Given the description of an element on the screen output the (x, y) to click on. 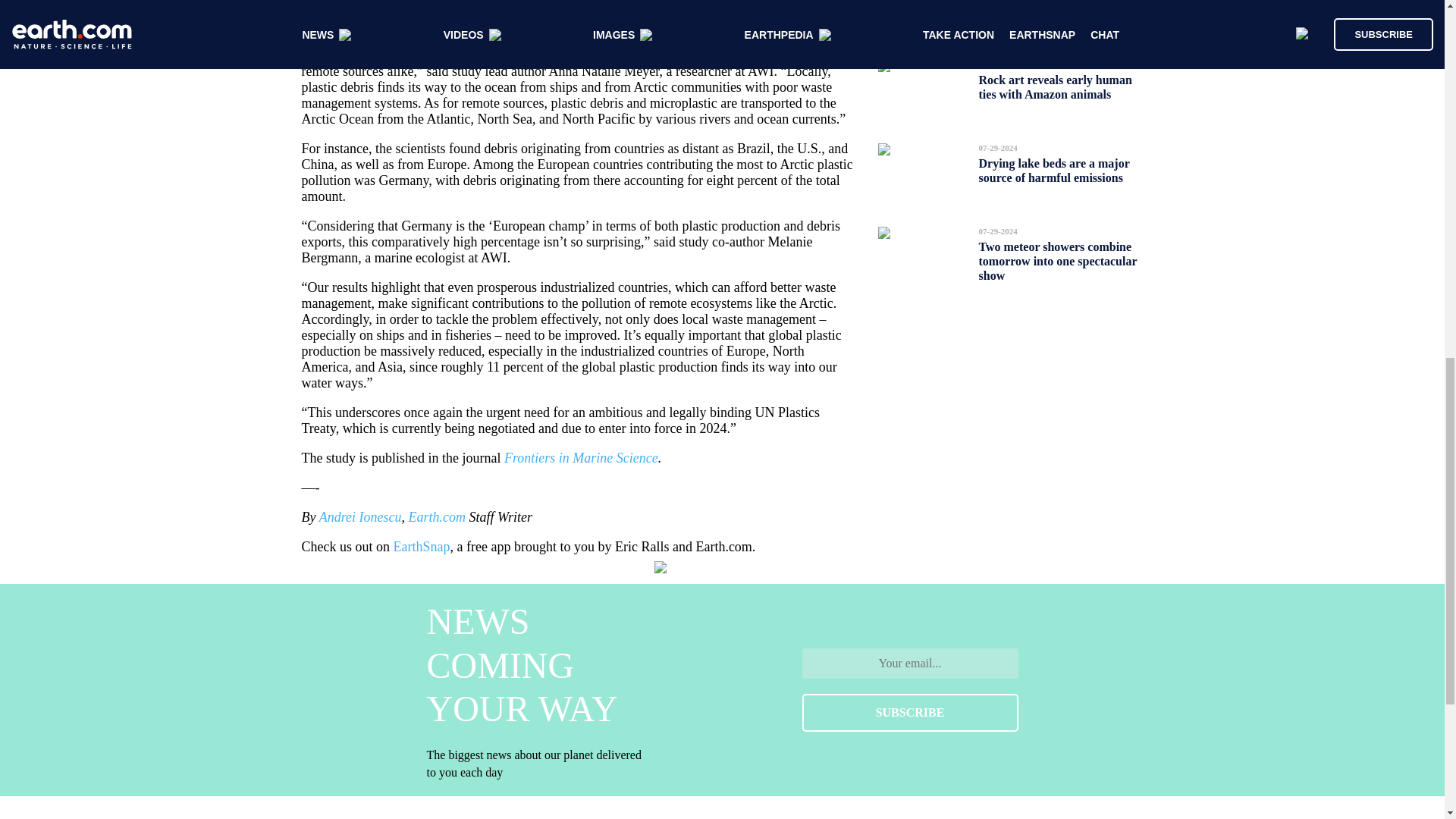
Andrei Ionescu (359, 516)
Rock art reveals early human ties with Amazon animals (1054, 87)
Drying lake beds are a major source of harmful emissions (1053, 170)
Frontiers in Marine Science (580, 458)
EarthSnap (421, 546)
Earth.com (436, 516)
